Given the description of an element on the screen output the (x, y) to click on. 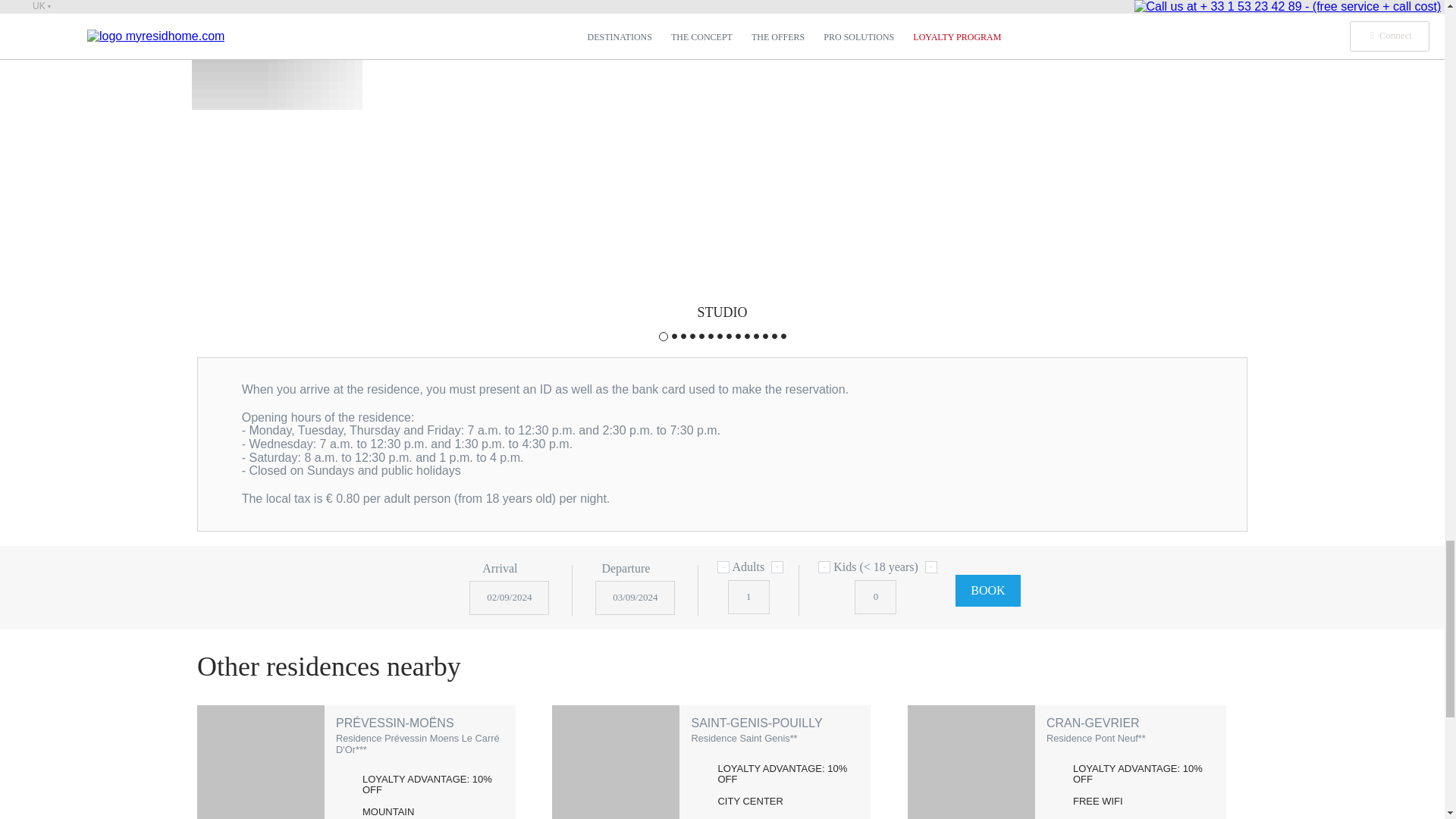
0 (875, 596)
Residence Saint Genis (615, 762)
Residence Pont Neuf (971, 762)
1 (749, 596)
